Given the description of an element on the screen output the (x, y) to click on. 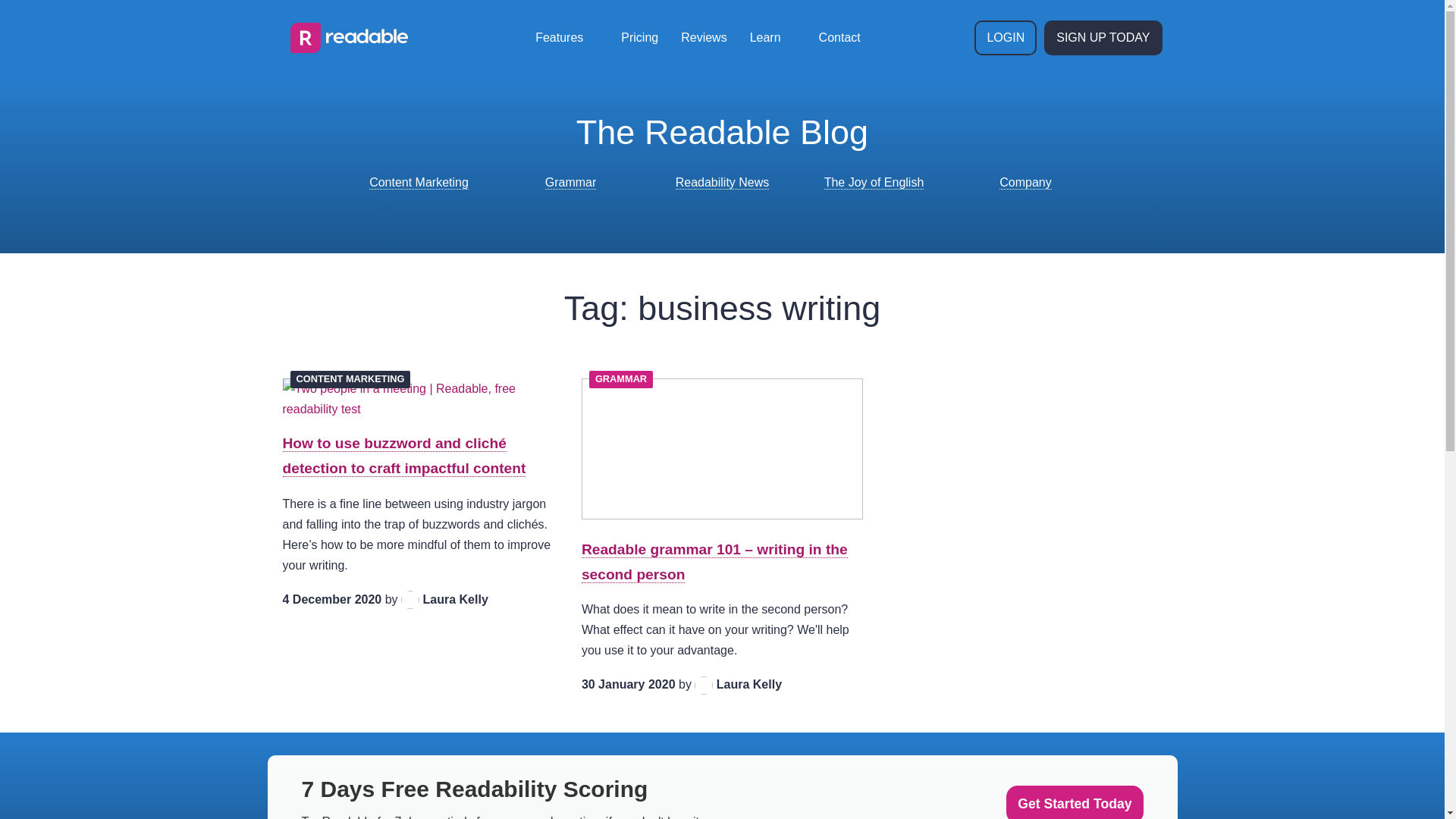
Contact (839, 37)
Grammar (570, 182)
Company (1024, 182)
Pricing (639, 37)
Content Marketing (418, 182)
Readability News (722, 182)
LOGIN (1005, 37)
GRAMMAR (620, 379)
Reviews (703, 37)
The Joy of English (874, 182)
